Given the description of an element on the screen output the (x, y) to click on. 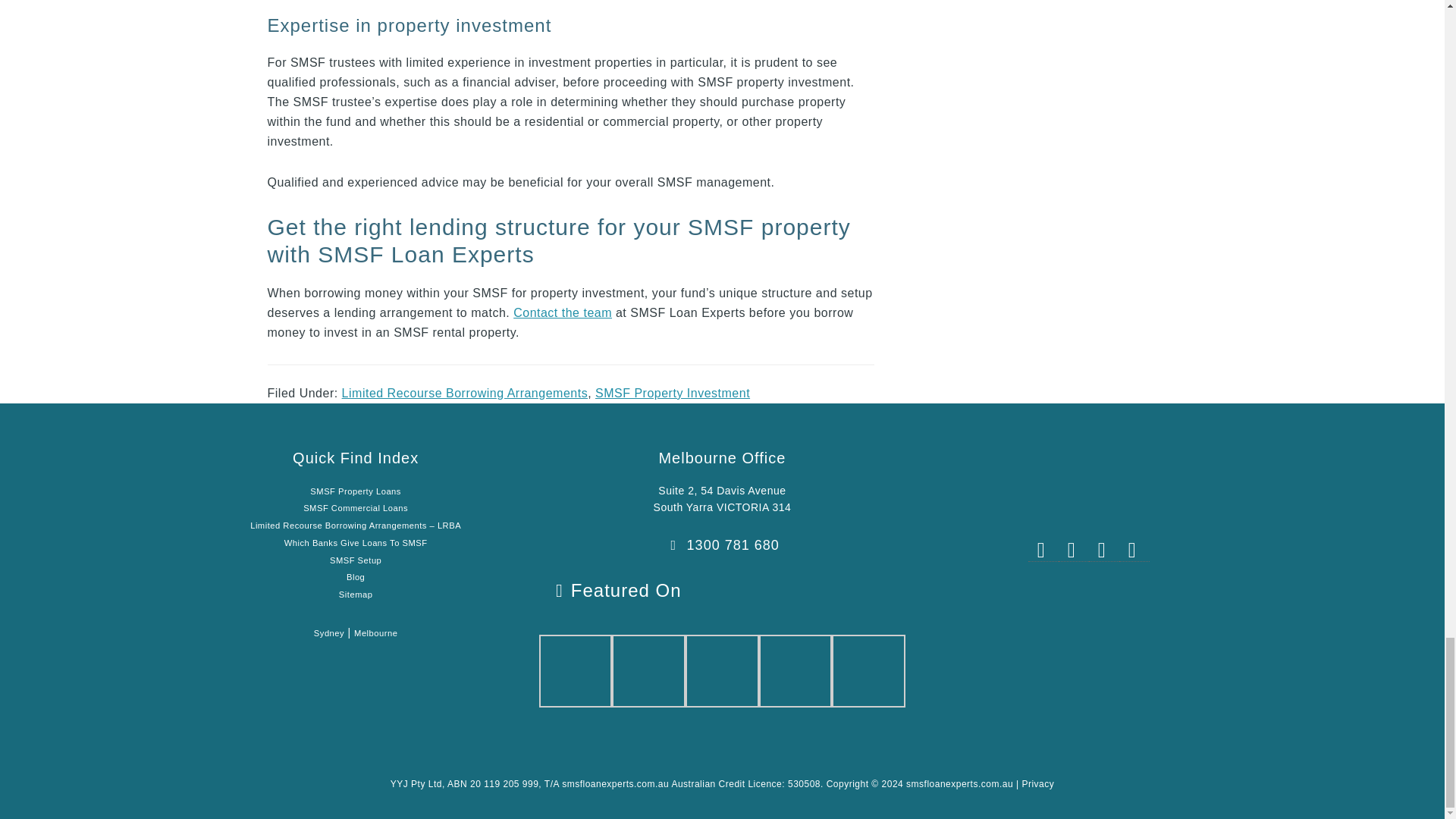
Limited Recourse Borrowing Arrangements (465, 392)
SMSF Property Investment (672, 392)
Contact the team (562, 312)
